Given the description of an element on the screen output the (x, y) to click on. 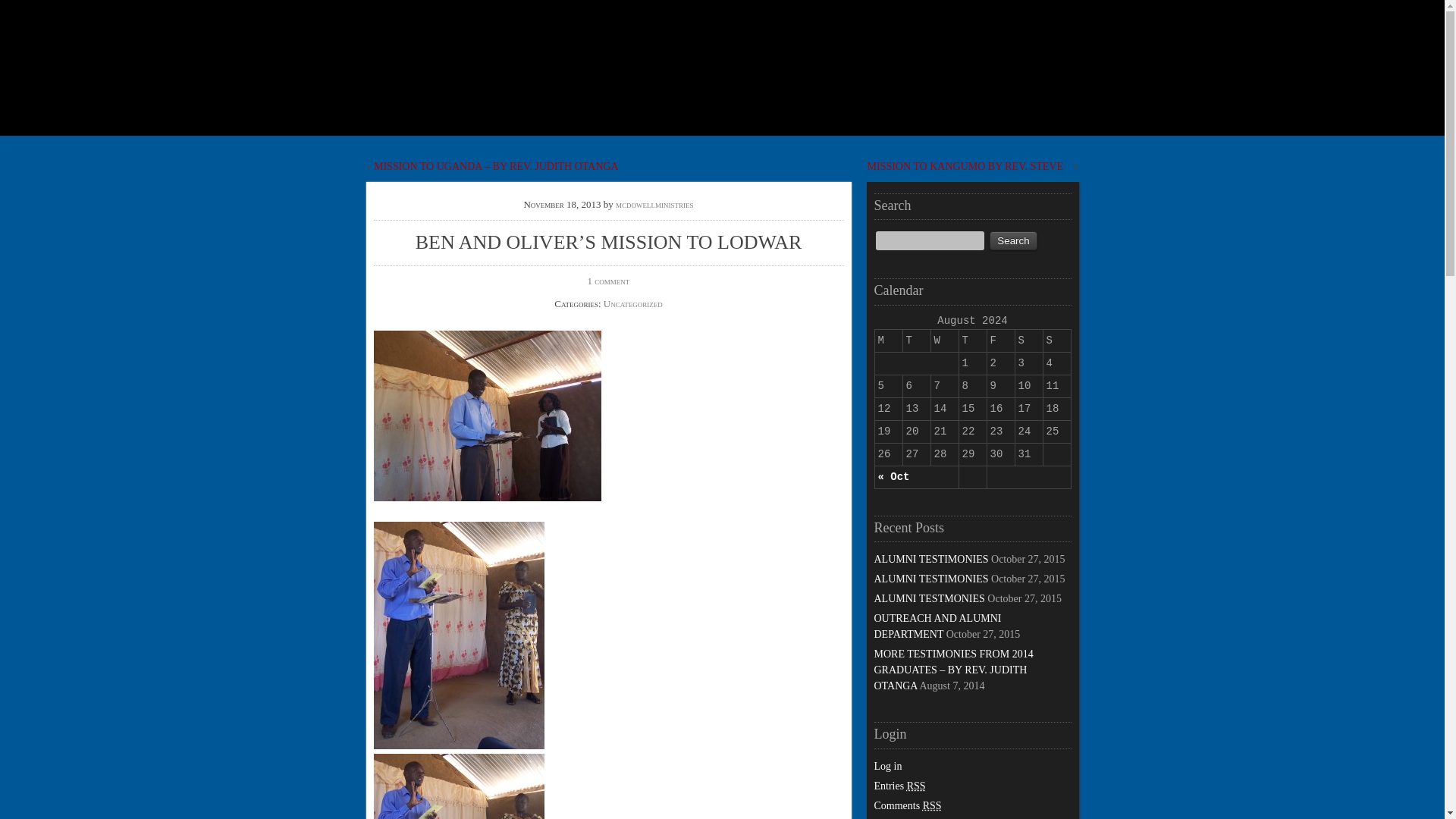
Tuesday (916, 340)
Friday (1000, 340)
Really Simple Syndication (932, 805)
Search (1013, 240)
View all posts by mcdowellministries (654, 204)
Comments RSS (906, 805)
Saturday (1028, 340)
Really Simple Syndication (916, 785)
1 comment (609, 280)
Monday (888, 340)
ALUMNI TESTIMONIES (930, 578)
Wednesday (944, 340)
Sunday (1056, 340)
mcdowellministries (654, 204)
ALUMNI TESTMONIES (928, 598)
